Given the description of an element on the screen output the (x, y) to click on. 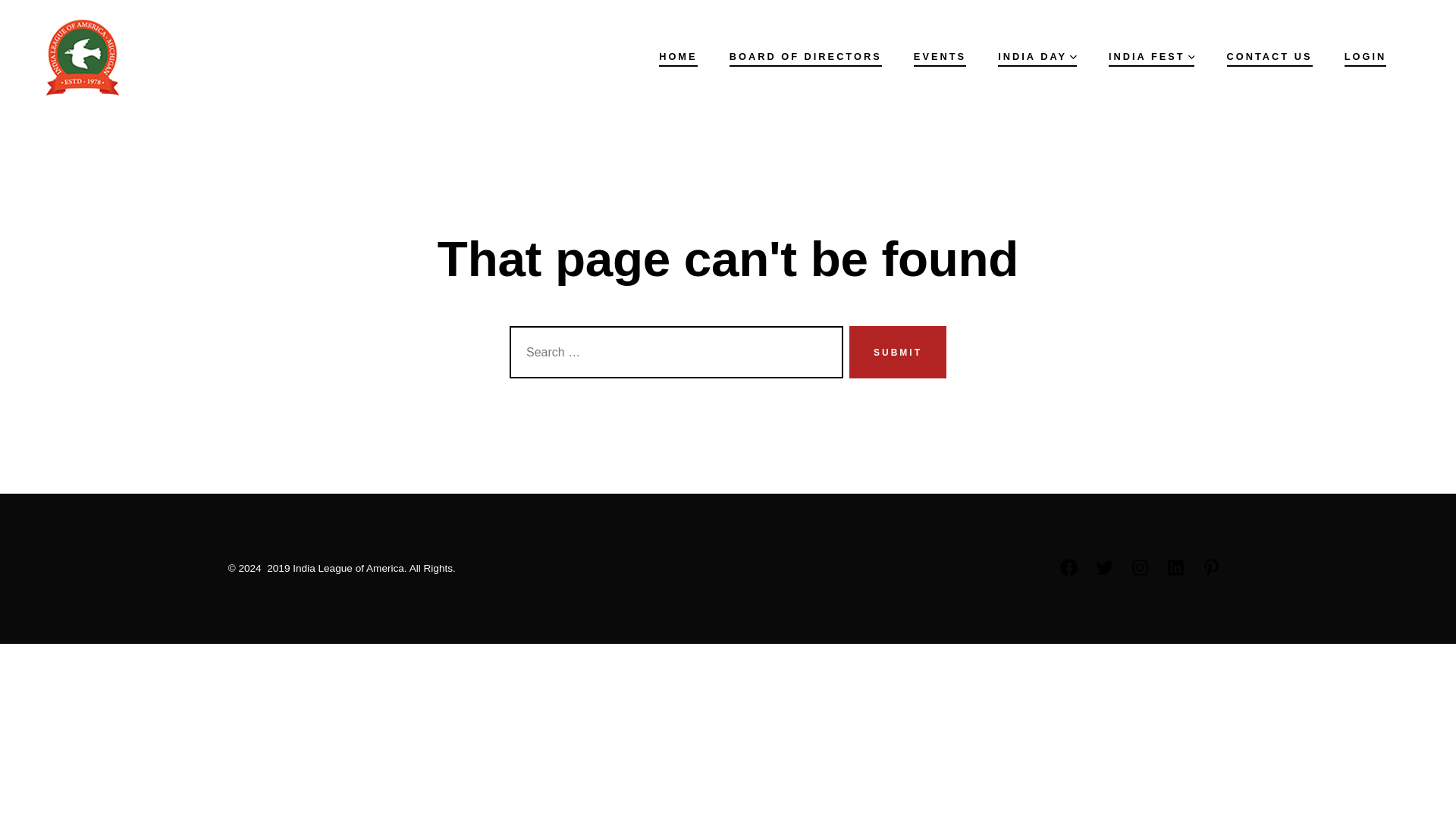
Open Instagram in a new tab (1140, 567)
HOME (678, 56)
EVENTS (940, 56)
BOARD OF DIRECTORS (805, 56)
INDIA DAY (1037, 56)
Open Twitter in a new tab (1104, 567)
SUBMIT (897, 352)
Open LinkedIn in a new tab (1175, 567)
LOGIN (1365, 56)
Open Pinterest in a new tab (1211, 567)
